Given the description of an element on the screen output the (x, y) to click on. 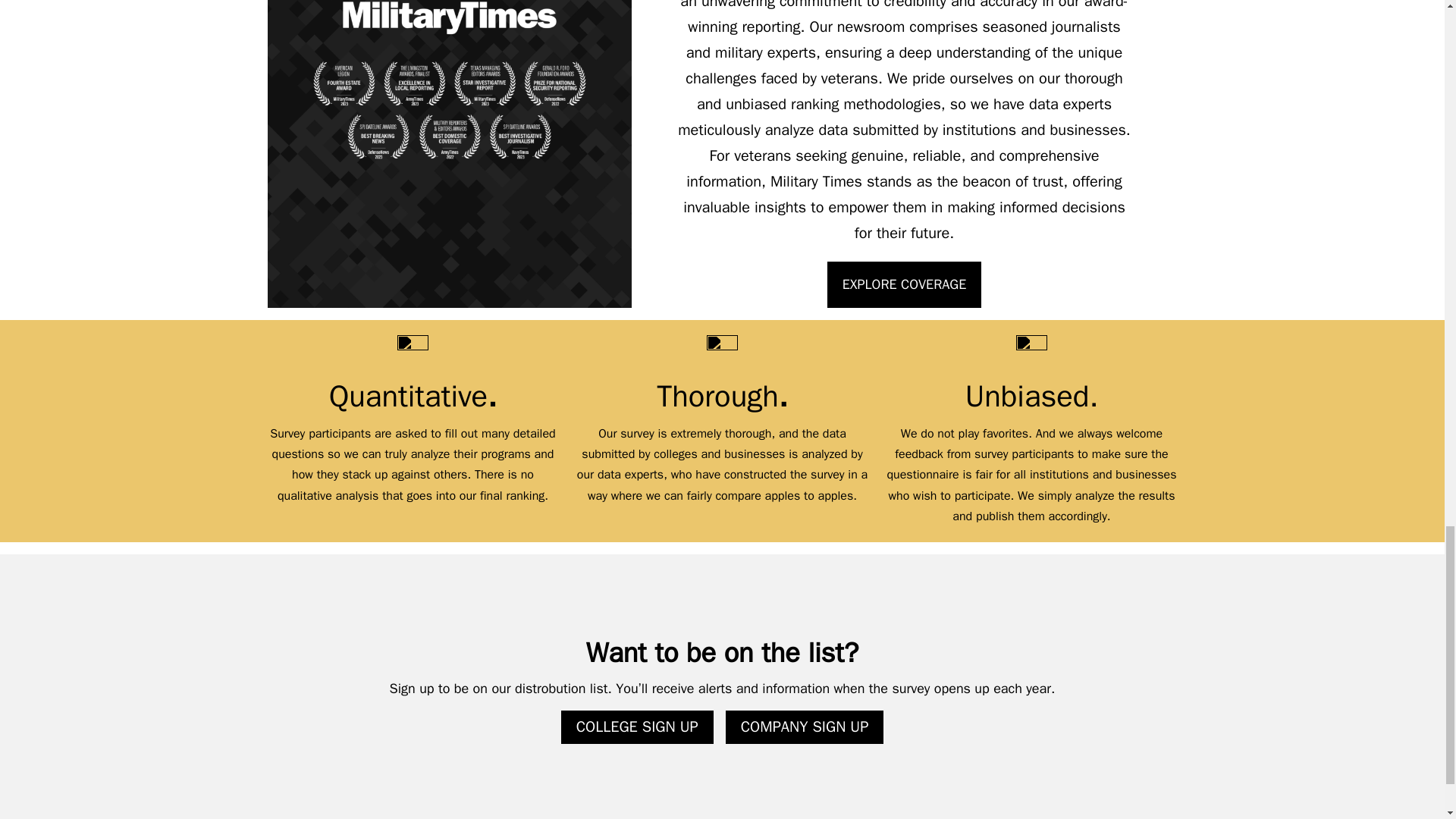
COLLEGE SIGN UP (636, 726)
COMPANY SIGN UP (804, 726)
EXPLORE COVERAGE (904, 284)
